Given the description of an element on the screen output the (x, y) to click on. 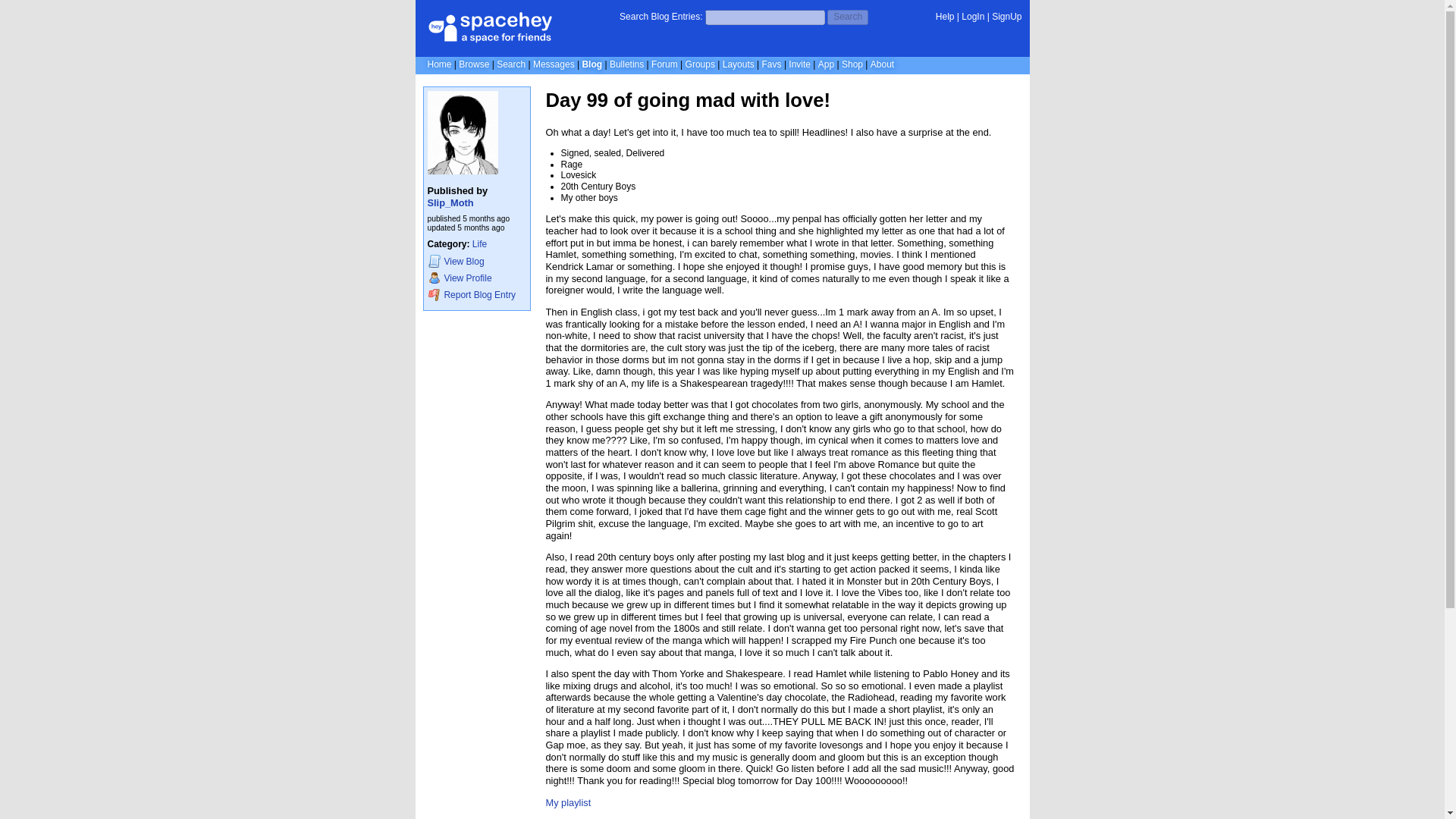
Forum (664, 63)
Life (478, 244)
Groups (699, 63)
Invite (799, 63)
Blog (591, 63)
Home (439, 63)
SpaceHey Mobile (826, 63)
Browse (473, 63)
Search (510, 63)
View Blog (476, 260)
SignUp (1006, 16)
Bulletins (626, 63)
Help (945, 16)
LogIn (972, 16)
Layouts (738, 63)
